Given the description of an element on the screen output the (x, y) to click on. 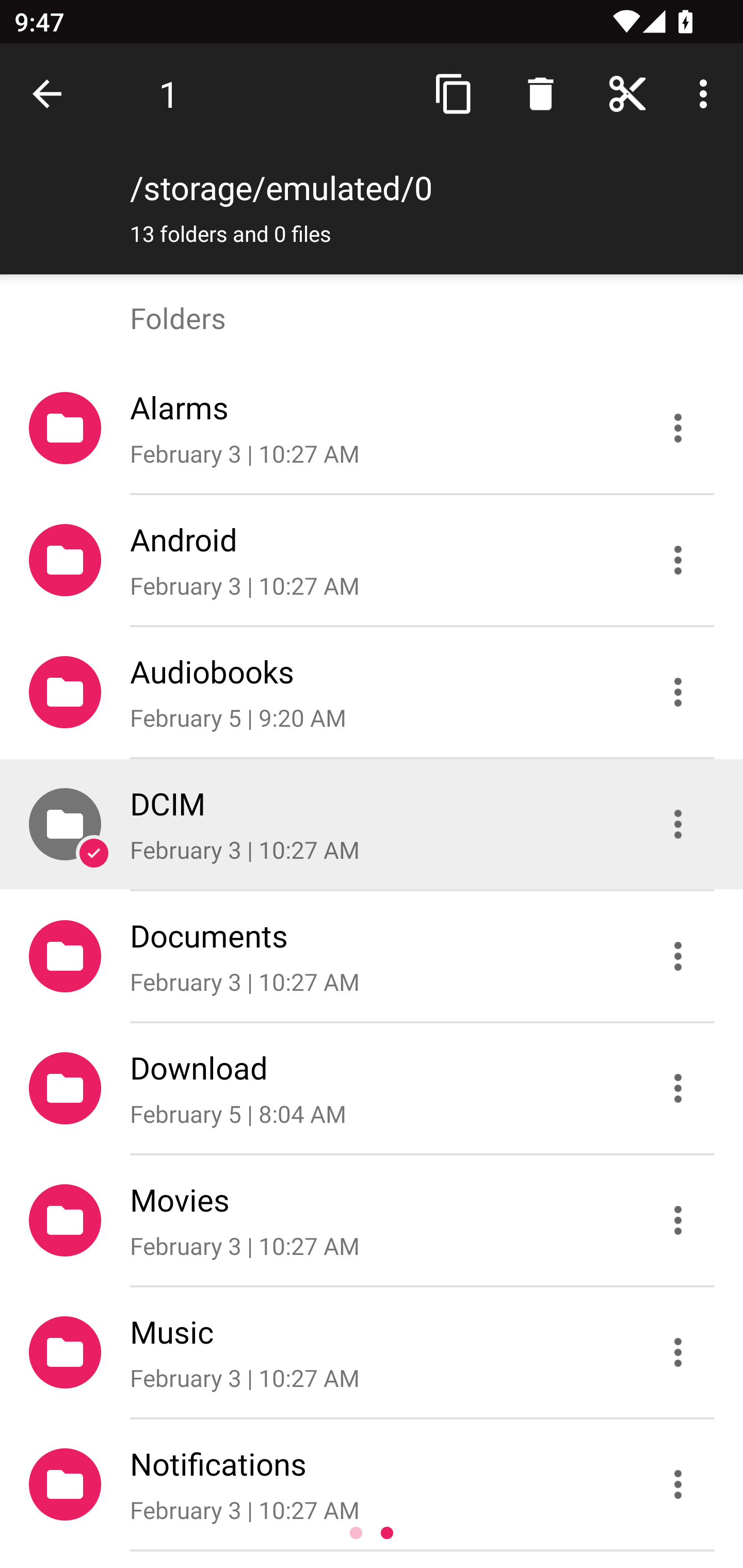
Navigate up (50, 93)
1 (169, 93)
Copy (453, 93)
Search (540, 93)
Home (626, 93)
More options (706, 93)
Alarms February 3 | 10:27 AM (371, 427)
Android February 3 | 10:27 AM (371, 560)
Audiobooks February 5 | 9:20 AM (371, 692)
DCIM February 3 | 10:27 AM (371, 823)
Documents February 3 | 10:27 AM (371, 955)
Download February 5 | 8:04 AM (371, 1088)
Movies February 3 | 10:27 AM (371, 1220)
Music February 3 | 10:27 AM (371, 1352)
Notifications February 3 | 10:27 AM (371, 1484)
